Given the description of an element on the screen output the (x, y) to click on. 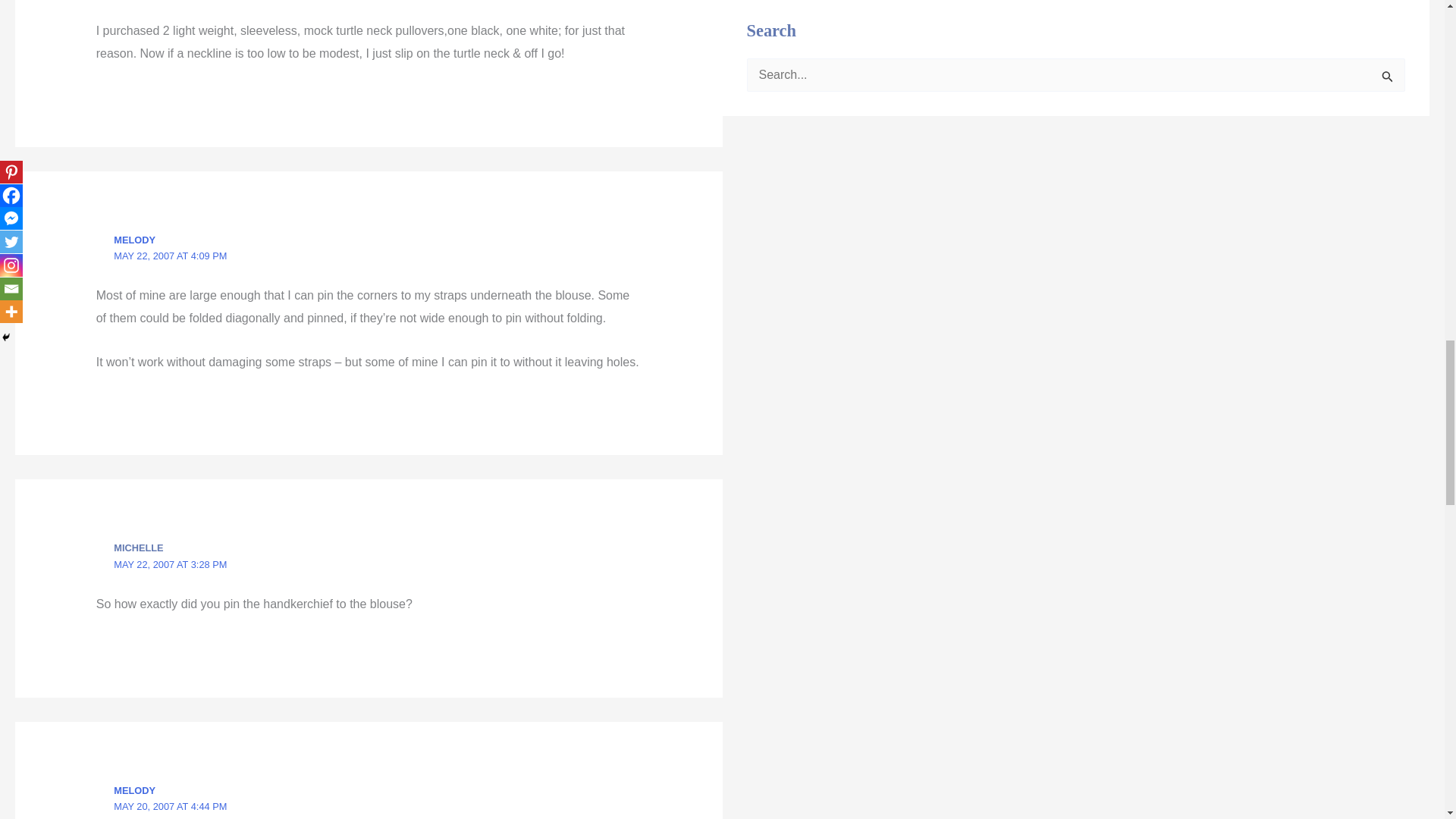
Search (1388, 79)
Search (1388, 79)
